Given the description of an element on the screen output the (x, y) to click on. 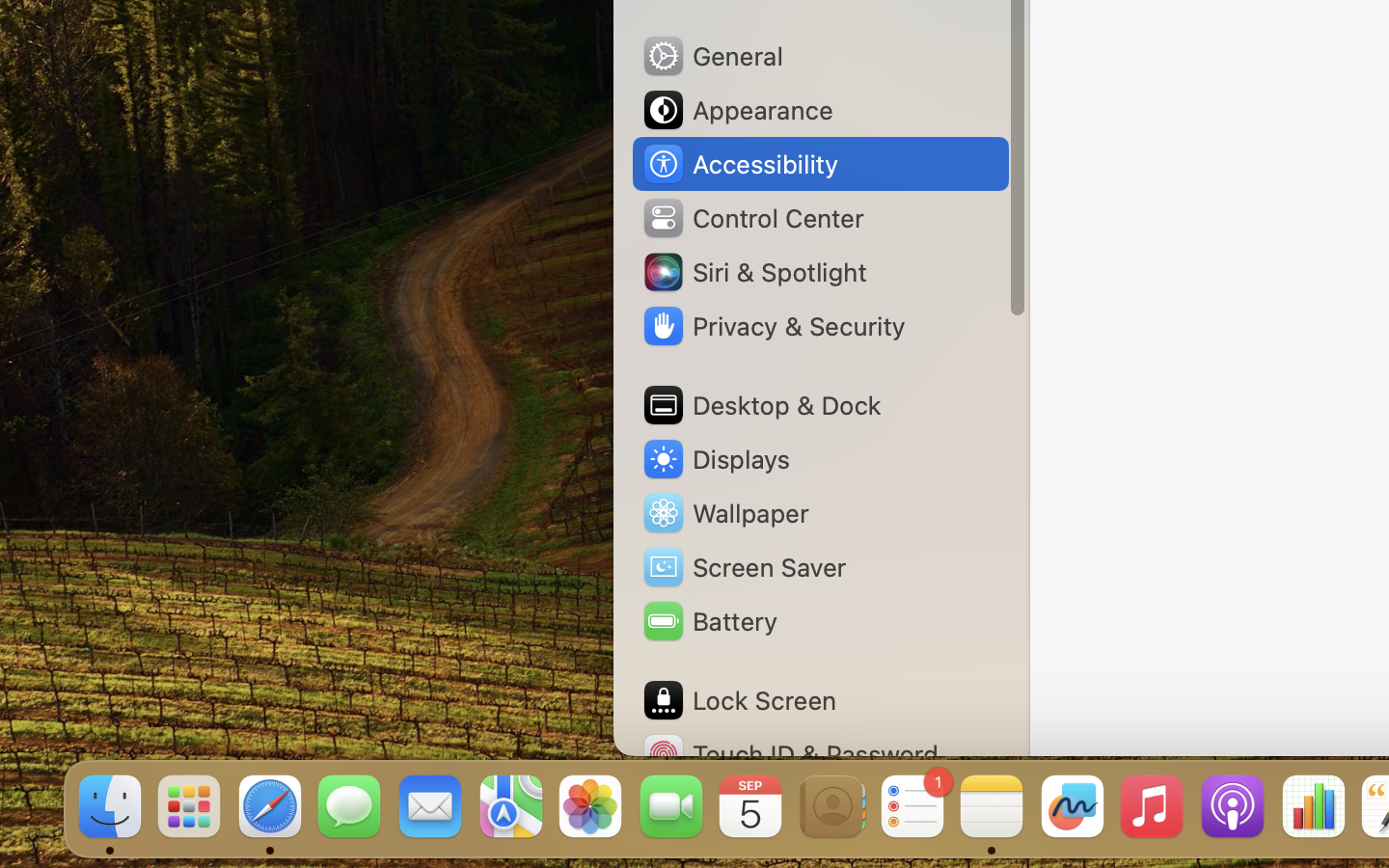
Privacy & Security Element type: AXStaticText (772, 325)
Accessibility Element type: AXStaticText (739, 163)
Displays Element type: AXStaticText (715, 458)
